Given the description of an element on the screen output the (x, y) to click on. 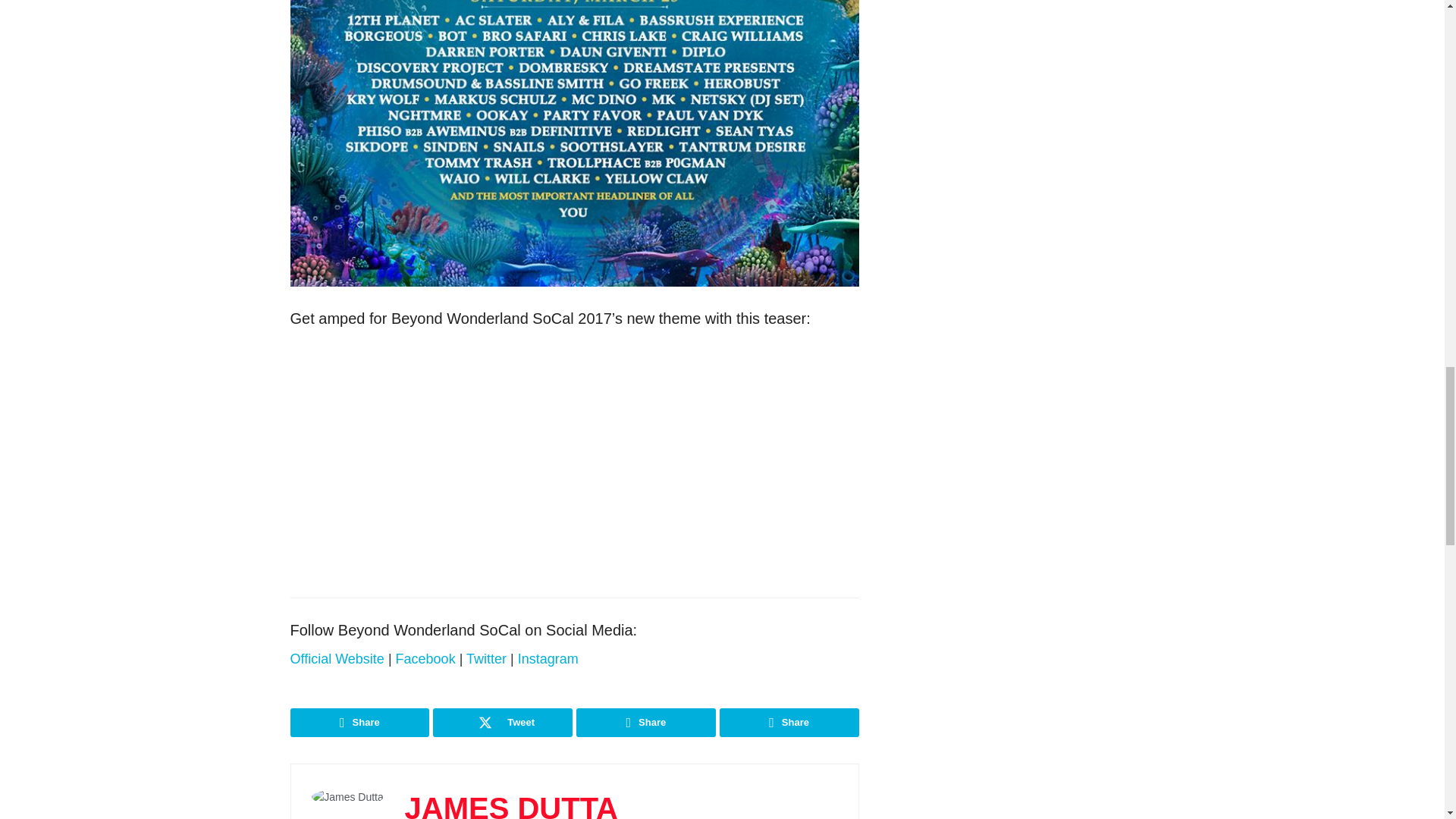
Share (789, 722)
Share (646, 722)
Instagram (548, 658)
Twitter (485, 658)
Share (359, 722)
Facebook (425, 658)
Official Website (336, 658)
Tweet (502, 722)
